Given the description of an element on the screen output the (x, y) to click on. 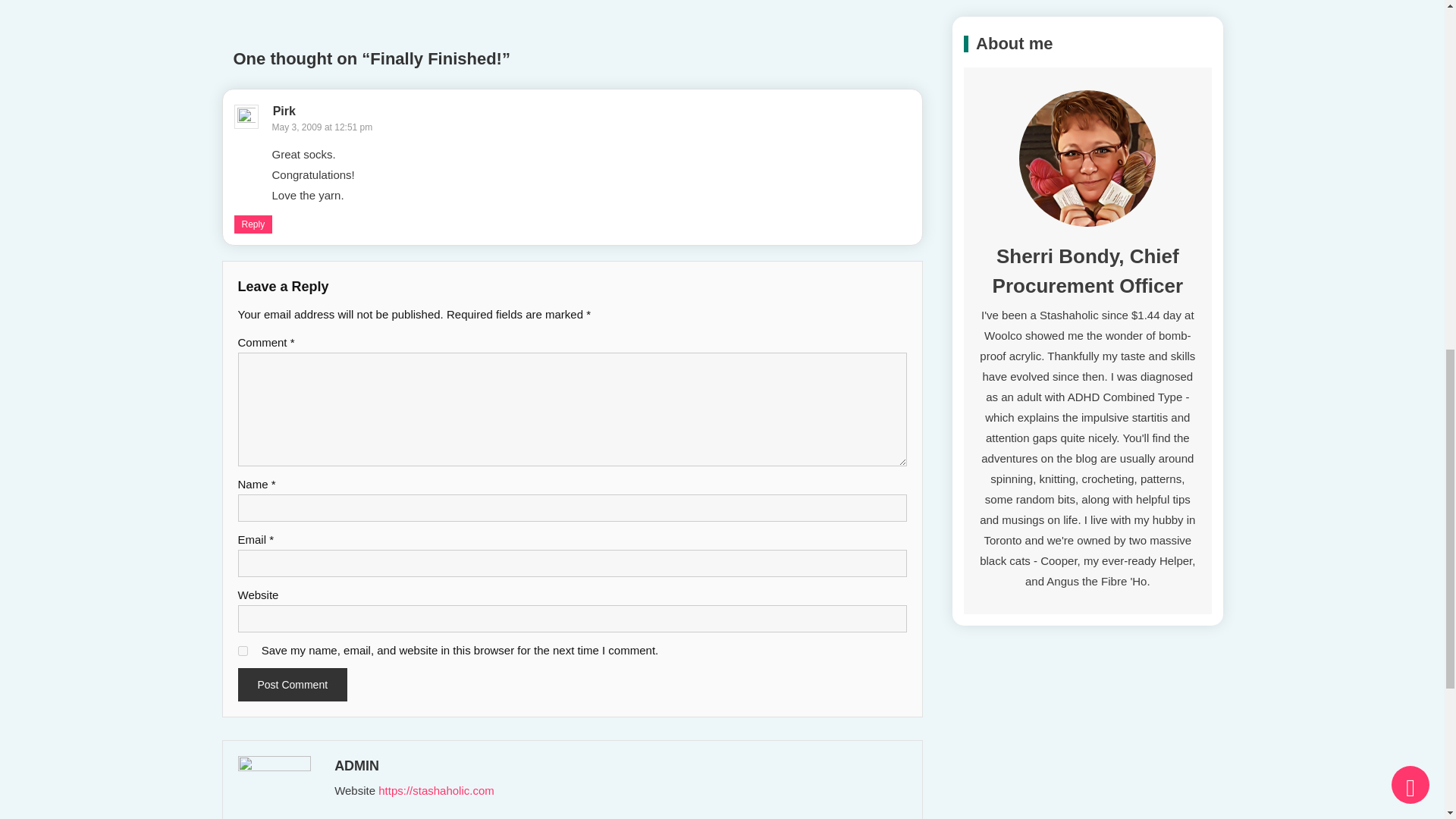
Reply (252, 224)
Post Comment (292, 684)
Post Comment (292, 684)
ADMIN (618, 765)
May 3, 2009 at 12:51 pm (321, 127)
Posts by admin (618, 765)
yes (242, 651)
Pirk (284, 110)
